Given the description of an element on the screen output the (x, y) to click on. 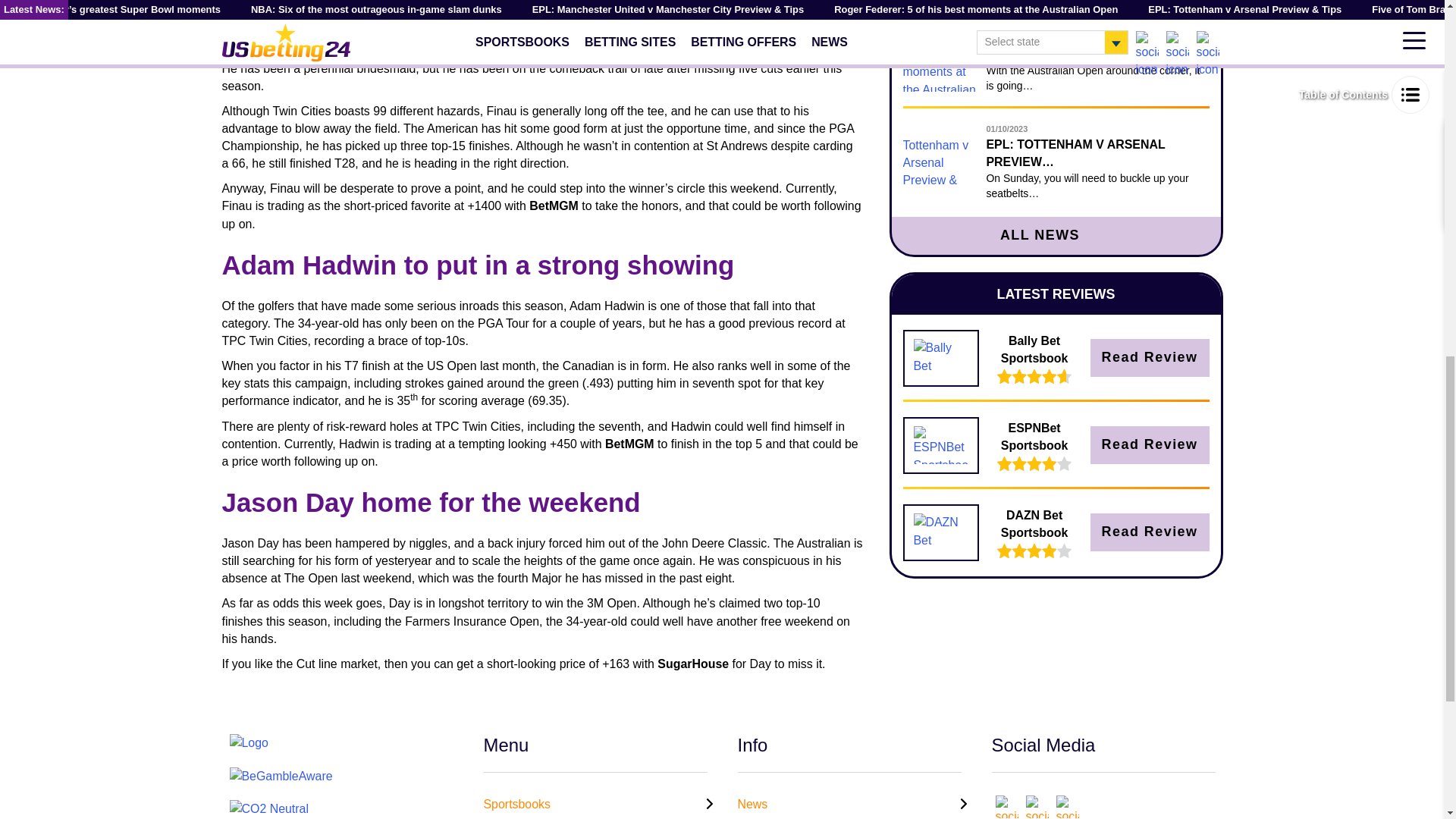
Bally Bet Sportsbook (940, 357)
DAZN Bet Sportsbook (940, 532)
ESPNBet Sportsbook (940, 444)
